Given the description of an element on the screen output the (x, y) to click on. 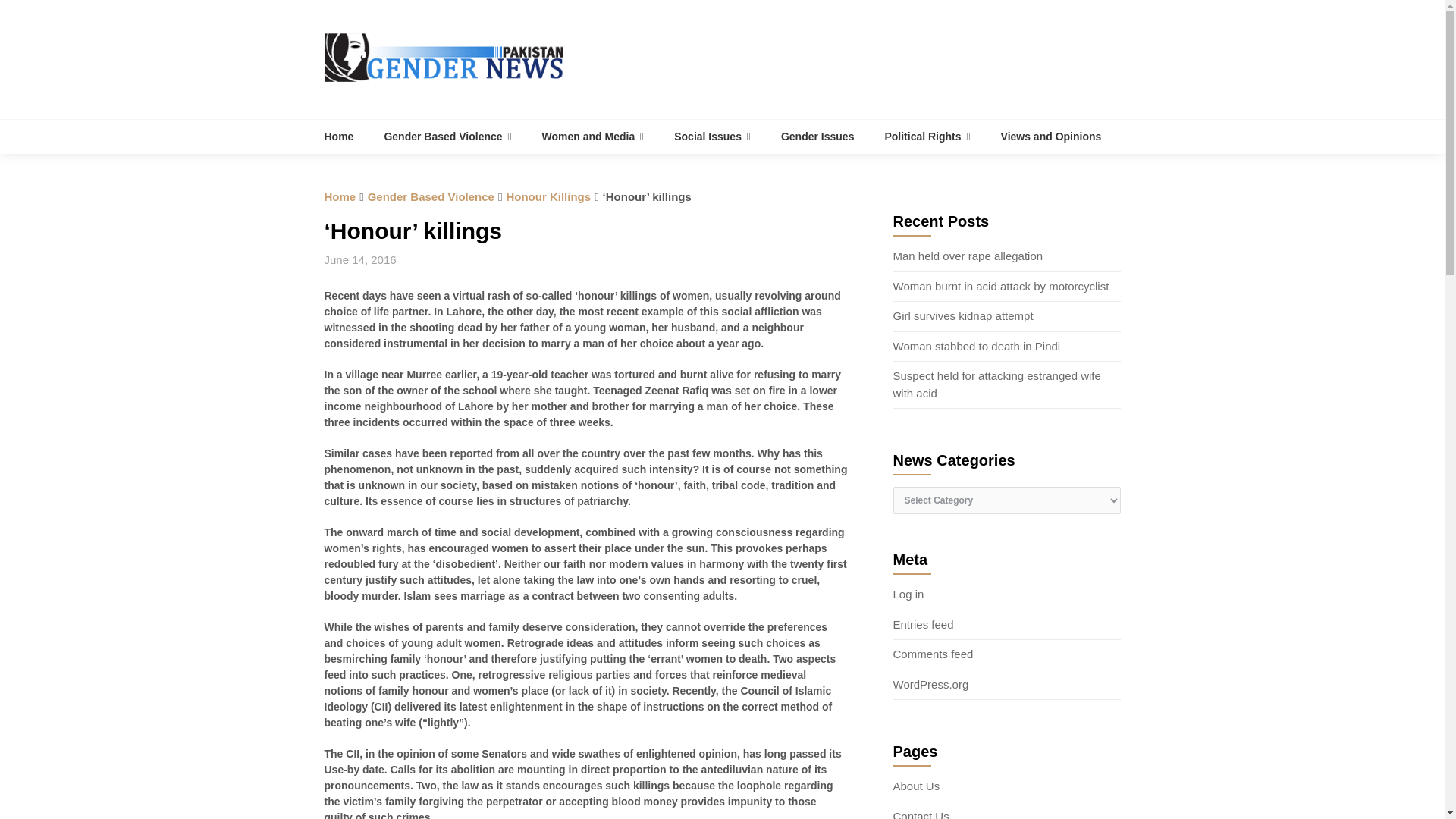
Gender Based Violence (446, 136)
WordPress.org (931, 684)
Political Rights (927, 136)
Contact Us (921, 814)
Woman burnt in acid attack by motorcyclist (1001, 286)
Comments feed (933, 653)
Pakistan Gender News (346, 136)
Gender Based Violence (431, 196)
Gender Issues (817, 136)
Views and Opinions (1050, 136)
